Given the description of an element on the screen output the (x, y) to click on. 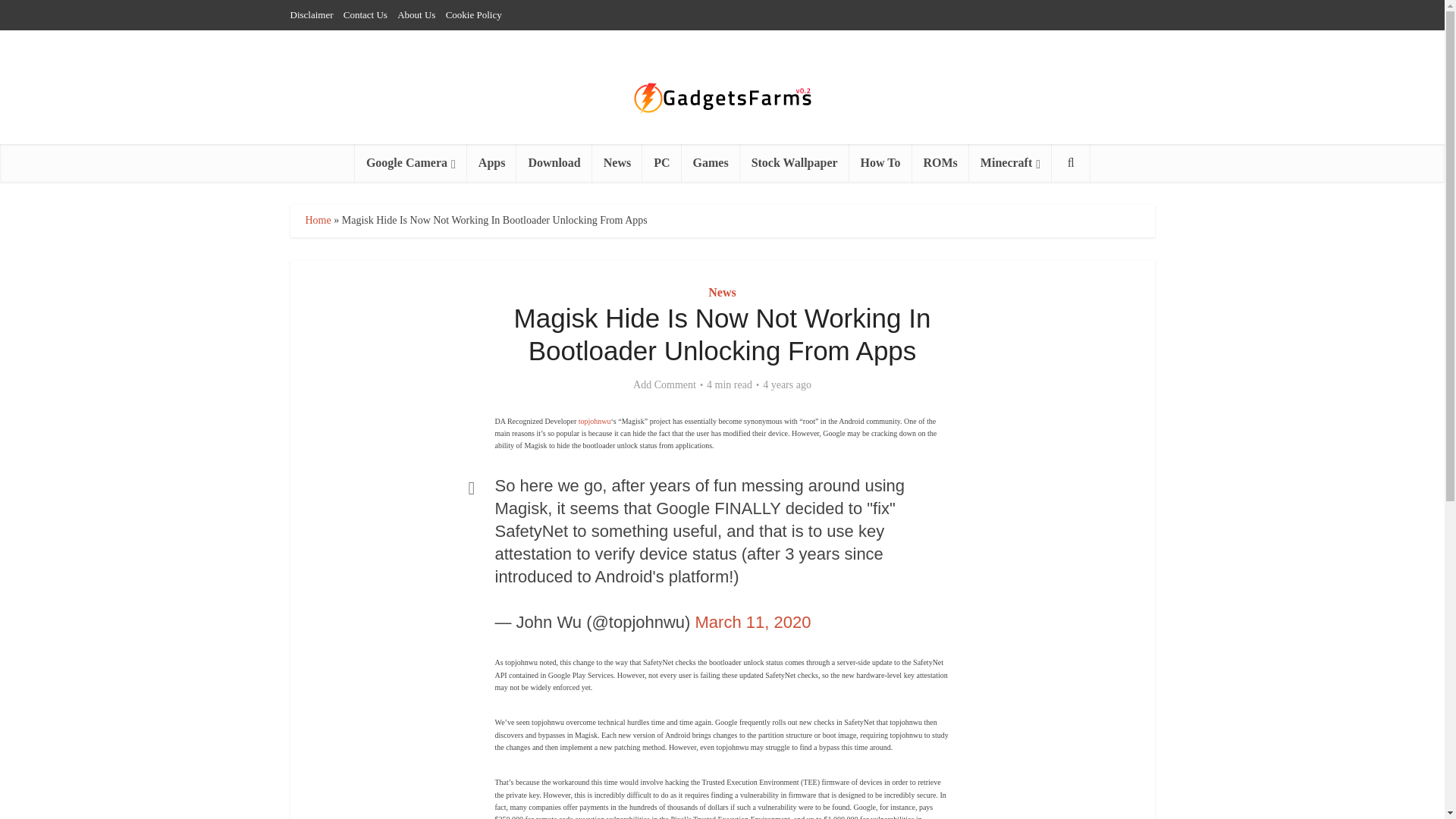
News (617, 162)
Apps (491, 162)
Minecraft (1010, 162)
Download (553, 162)
topjohnwu (594, 420)
Stock Wallpaper (793, 162)
Cookie Policy (473, 14)
ROMs (940, 162)
Google Camera (411, 162)
Add Comment (664, 385)
